Given the description of an element on the screen output the (x, y) to click on. 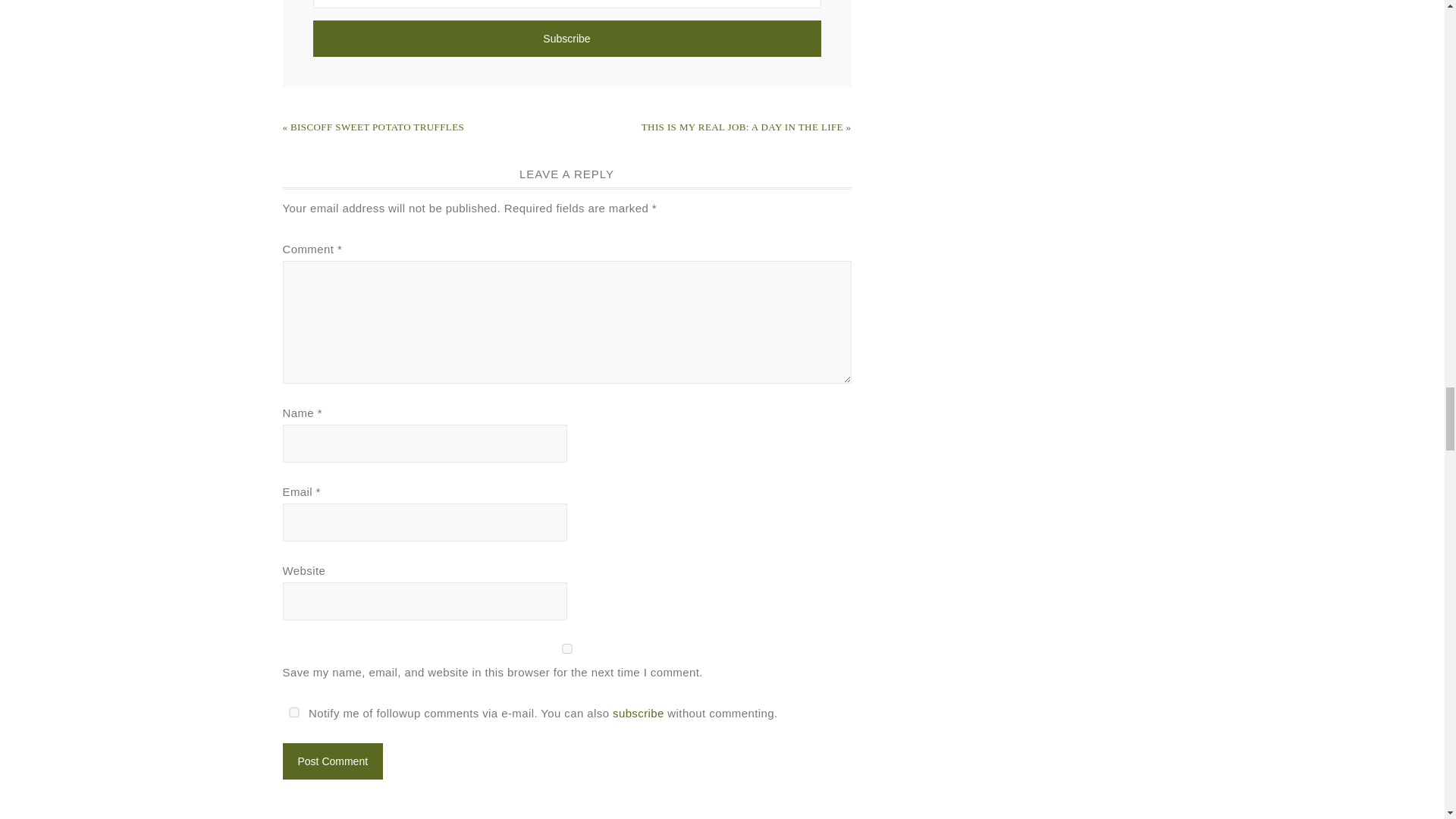
yes (293, 712)
Post Comment (332, 760)
Subscribe (567, 38)
Subscribe (567, 38)
yes (566, 648)
